Given the description of an element on the screen output the (x, y) to click on. 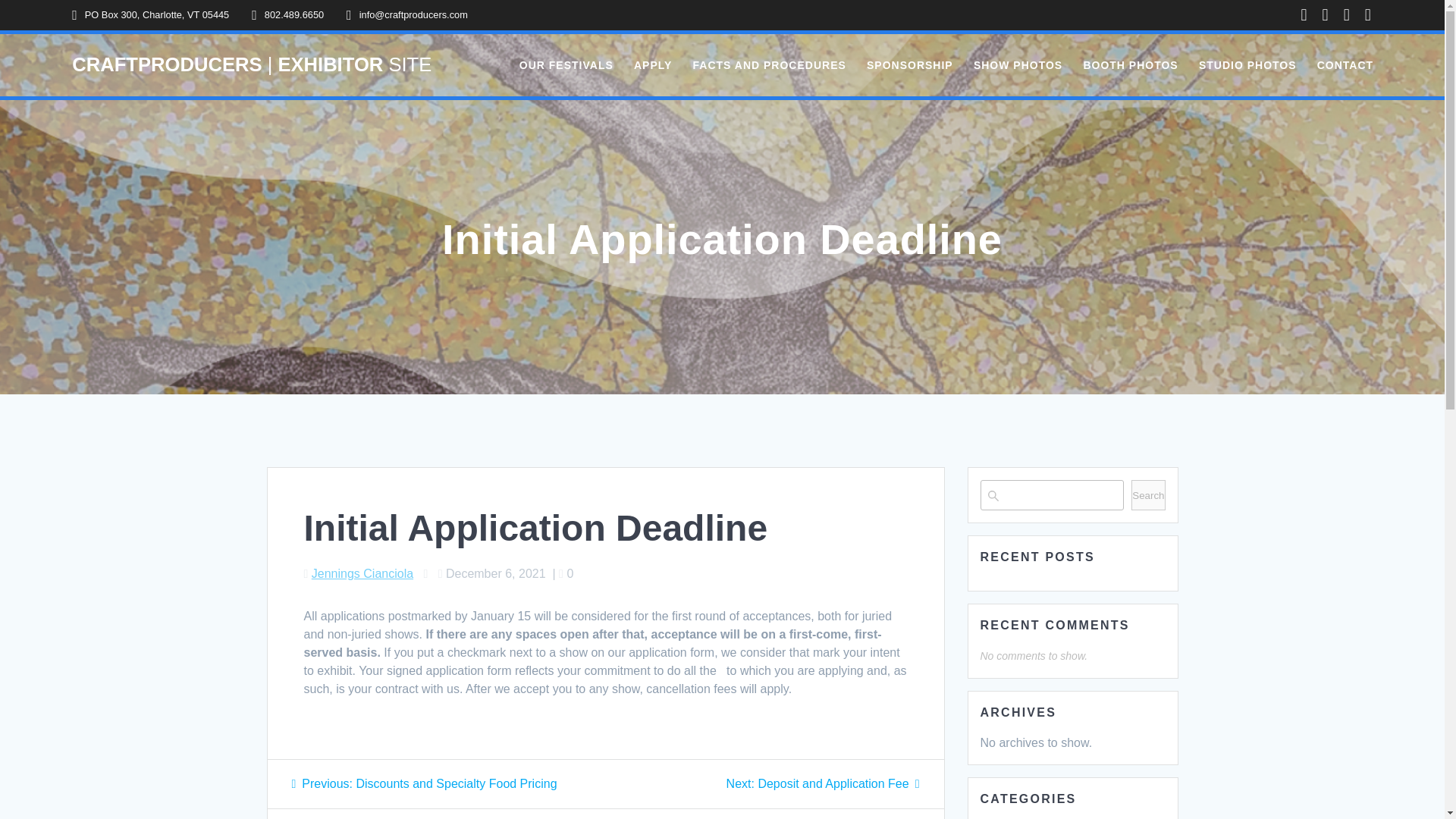
APPLY (652, 64)
CONTACT (1345, 64)
BOOTH PHOTOS (1130, 64)
Search (1147, 494)
FACTS AND PROCEDURES (769, 64)
Review our facts and procedures here before you apply (769, 64)
OUR FESTIVALS (565, 64)
Check here for photos of past festivals and events (1018, 64)
Check here to see booth photos of many of our exhibitors (1130, 64)
SPONSORSHIP (909, 64)
